Given the description of an element on the screen output the (x, y) to click on. 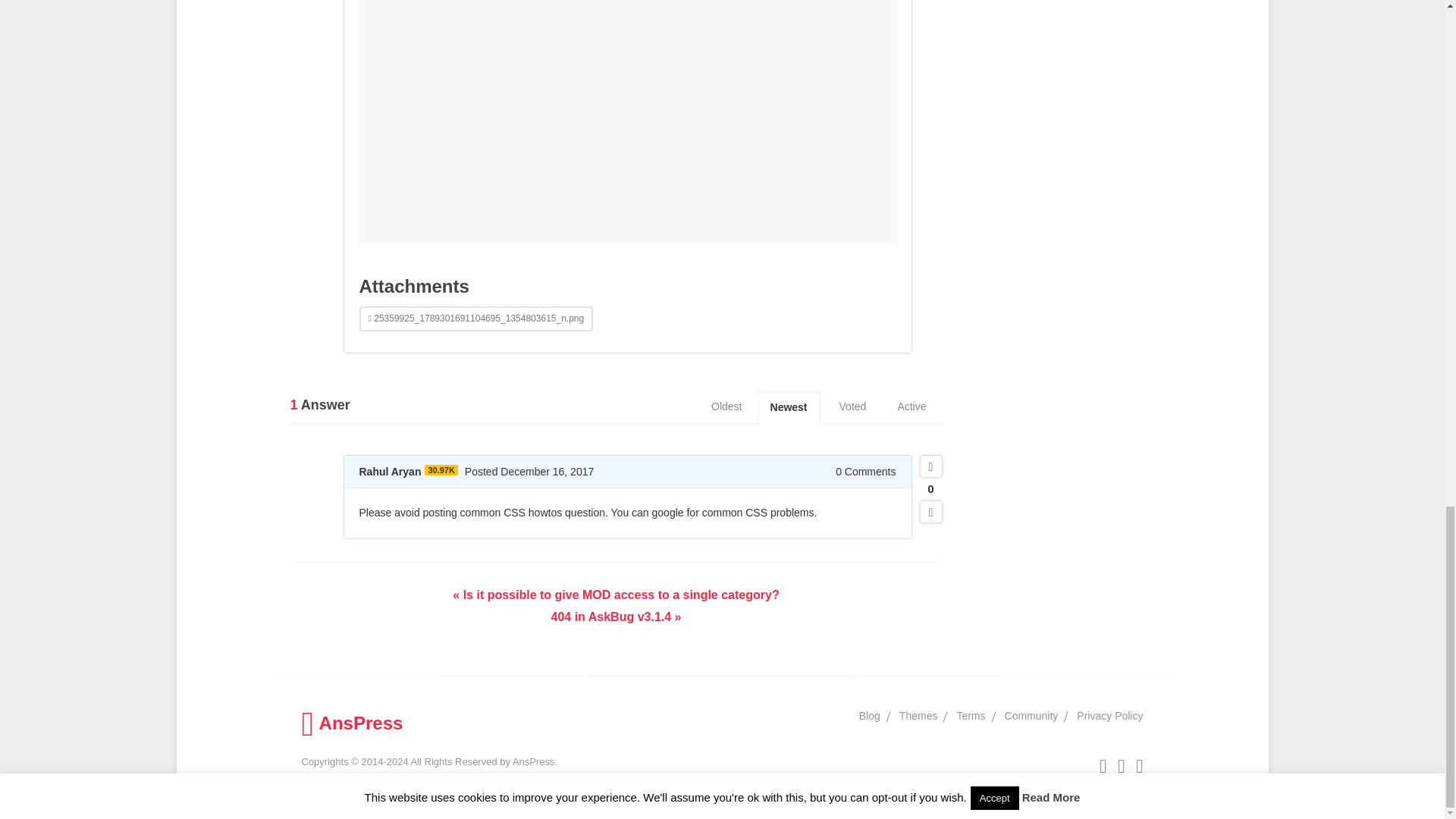
Newest (789, 408)
Reputation (441, 470)
Up vote this post (930, 466)
Down vote this post (930, 511)
Posted December 16, 2017 (529, 471)
Rahul Aryan (390, 471)
Oldest (726, 407)
30.97K (441, 470)
Download file (476, 318)
Voted (853, 407)
